Given the description of an element on the screen output the (x, y) to click on. 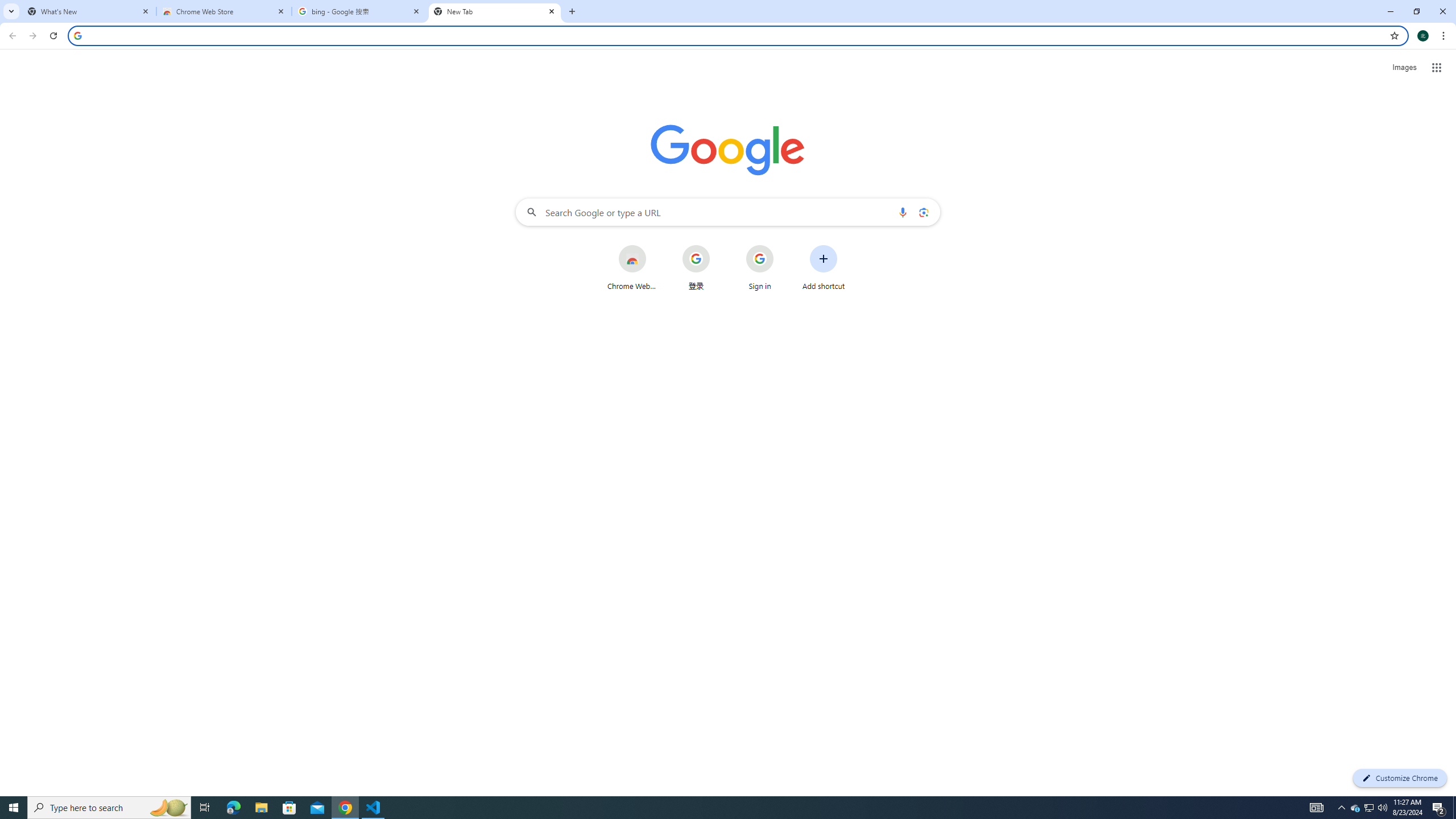
Chrome Web Store (224, 11)
More actions for Sign in shortcut (782, 245)
More actions for Chrome Web Store shortcut (654, 245)
